Given the description of an element on the screen output the (x, y) to click on. 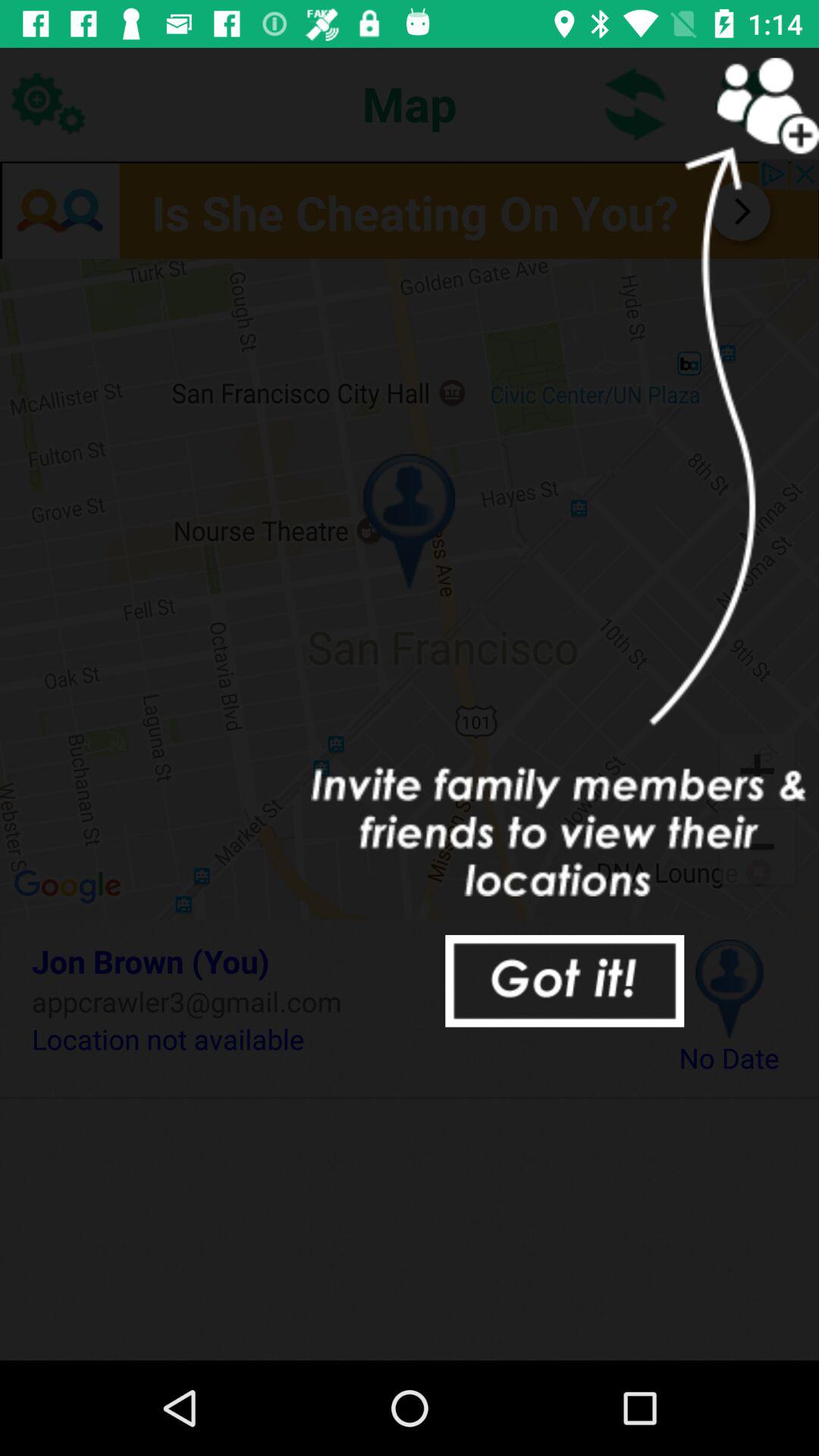
launch item below the jon brown (you) item (332, 1001)
